Given the description of an element on the screen output the (x, y) to click on. 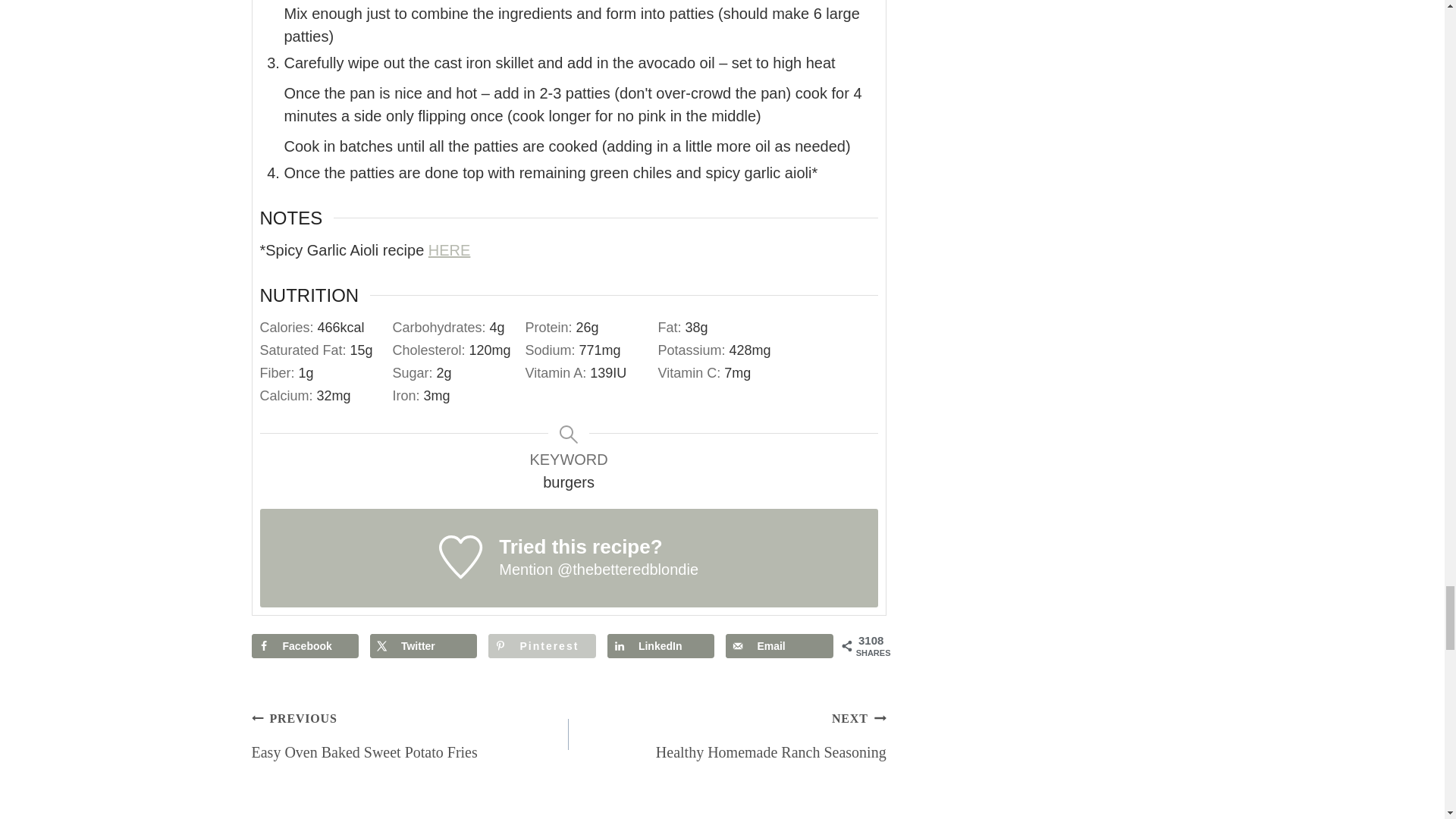
Share on LinkedIn (660, 645)
Share on X (423, 645)
Send over email (778, 645)
Save to Pinterest (541, 645)
Share on Facebook (304, 645)
